Given the description of an element on the screen output the (x, y) to click on. 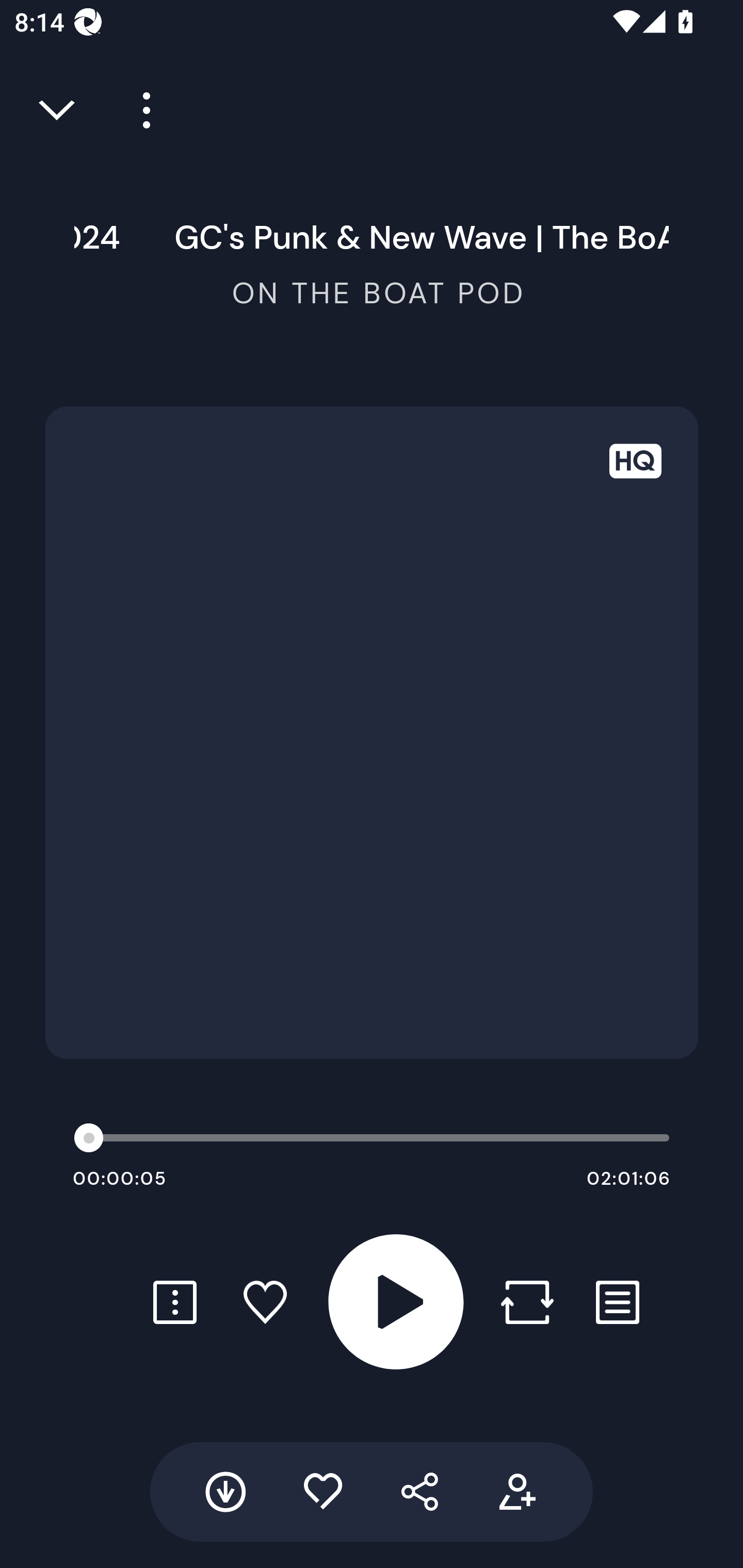
Close full player (58, 110)
Player more options button (139, 110)
Repost button (527, 1301)
